Given the description of an element on the screen output the (x, y) to click on. 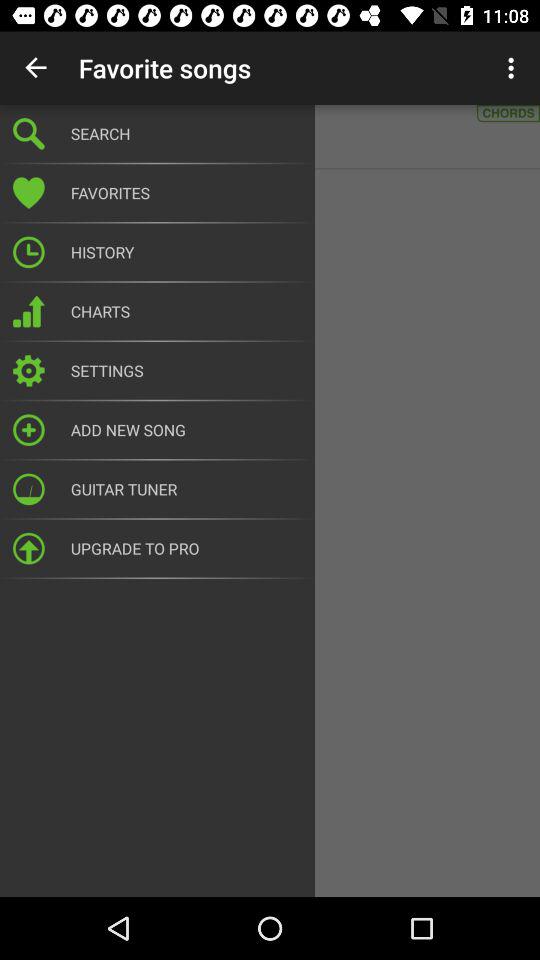
select the icon next to search icon (513, 67)
